Given the description of an element on the screen output the (x, y) to click on. 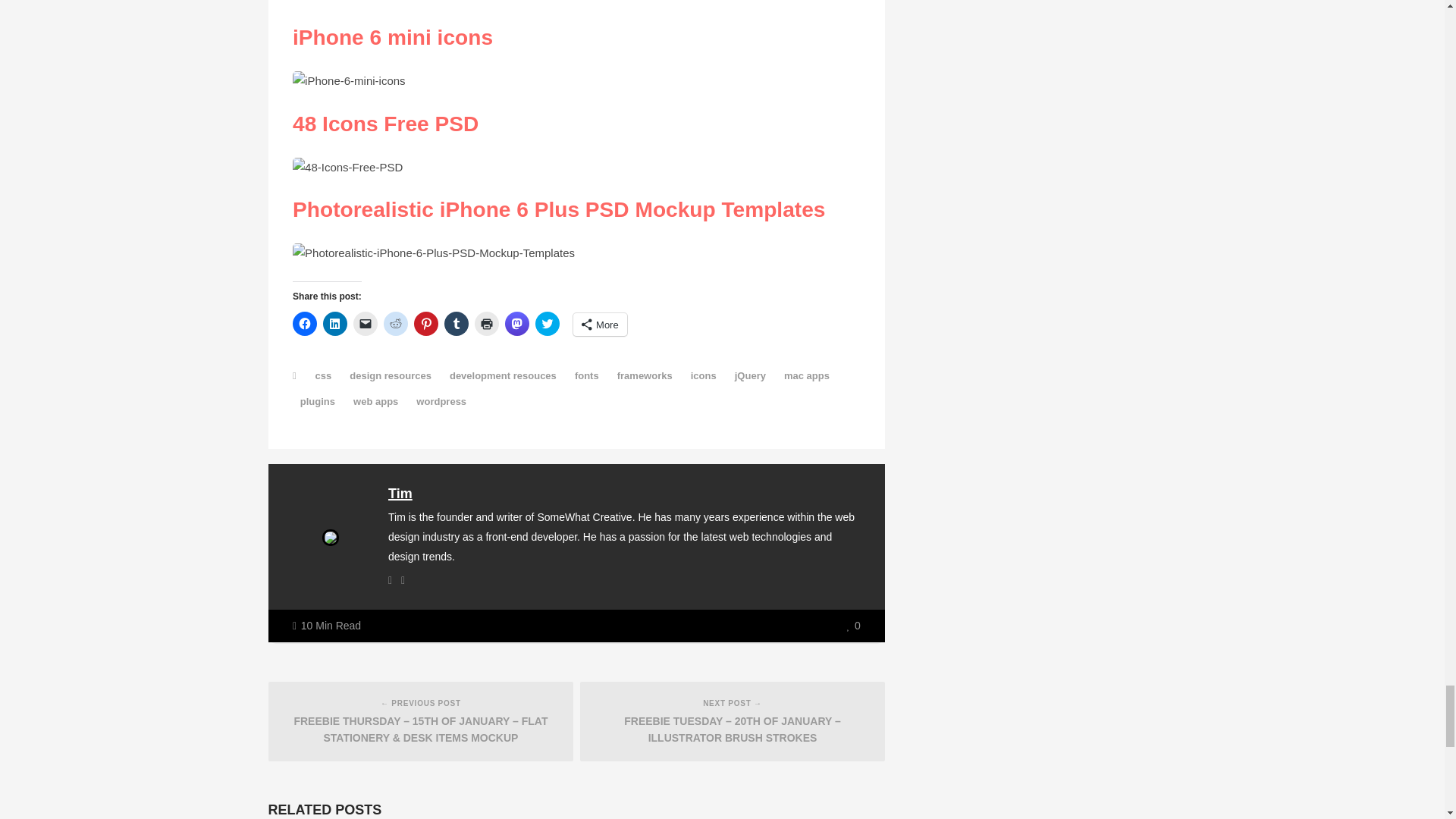
Click to share on Tumblr (456, 323)
Click to share on Mastodon (517, 323)
Click to share on Reddit (395, 323)
Click to print (486, 323)
Click to share on Pinterest (425, 323)
Click to share on Facebook (304, 323)
Click to email a link to a friend (365, 323)
Click to share on Twitter (547, 323)
Click to share on LinkedIn (335, 323)
